Given the description of an element on the screen output the (x, y) to click on. 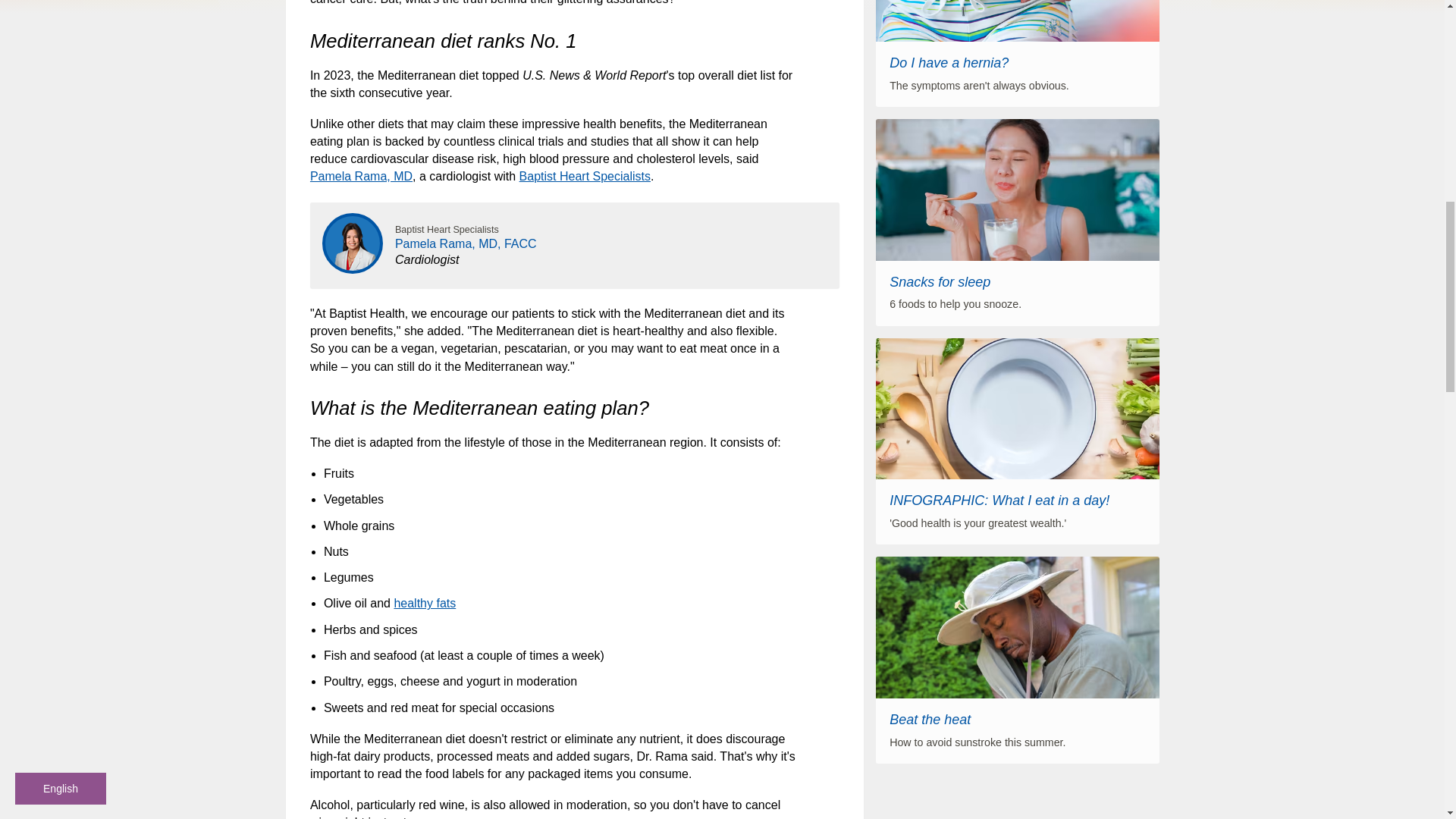
Do I have a hernia? (949, 62)
Snacks for sleep (939, 281)
Baptist Heart Specialists (584, 175)
Beat the heat (930, 719)
Pamela Rama, MD, FACC (465, 243)
Click to learn more about Pamela Rama, MD, FACC (465, 243)
Pamela Rama, MD (361, 175)
INFOGRAPHIC: What I eat in a day! (999, 500)
healthy fats (424, 603)
